Given the description of an element on the screen output the (x, y) to click on. 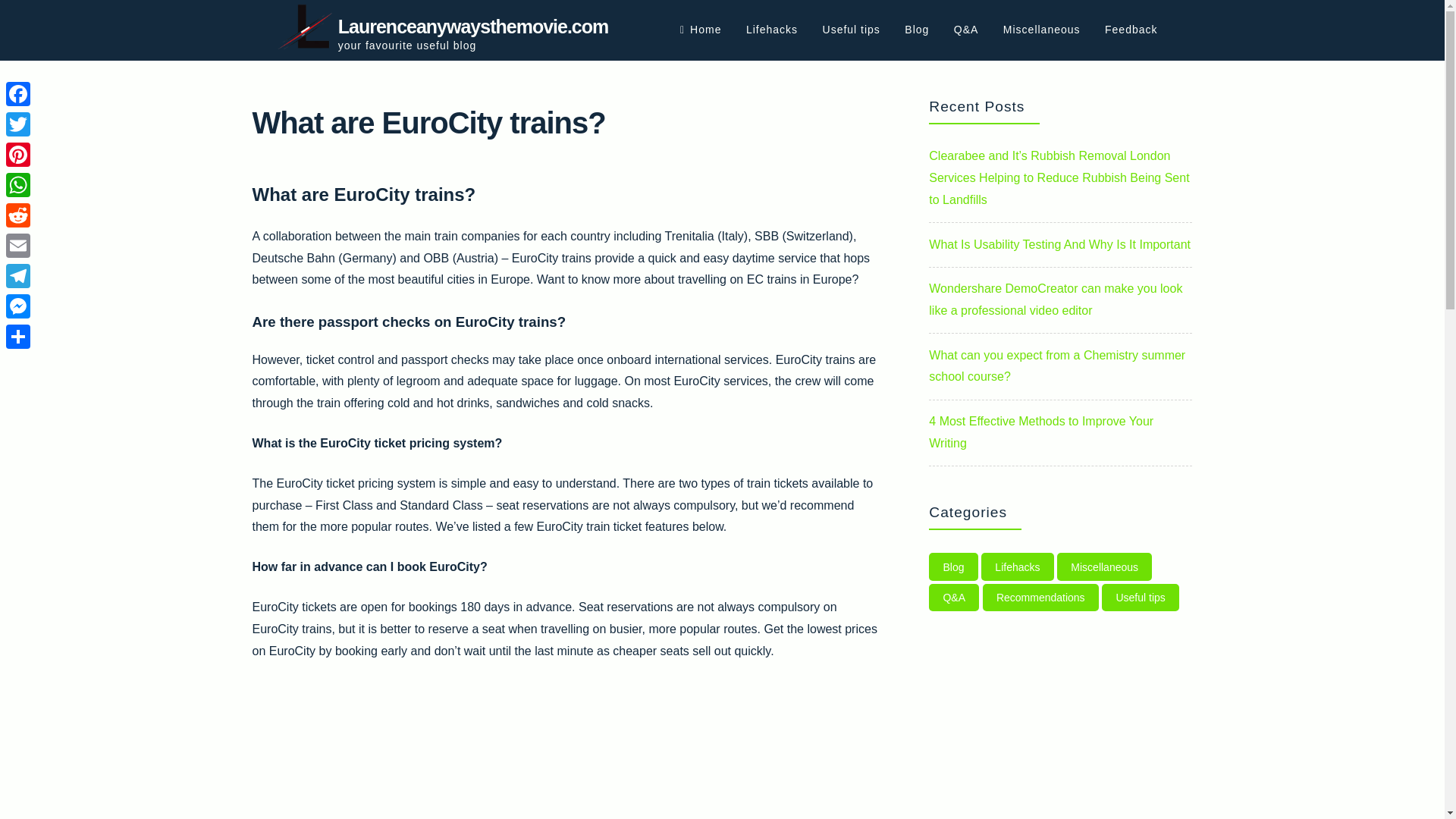
WhatsApp (17, 184)
4 Most Effective Methods to Improve Your Writing (1040, 431)
Home (699, 30)
Lifehacks (771, 30)
Twitter (17, 123)
What Is Usability Testing And Why Is It Important (1059, 244)
Feedback (1131, 30)
Facebook (17, 93)
Twitter (17, 123)
Facebook (17, 93)
